Given the description of an element on the screen output the (x, y) to click on. 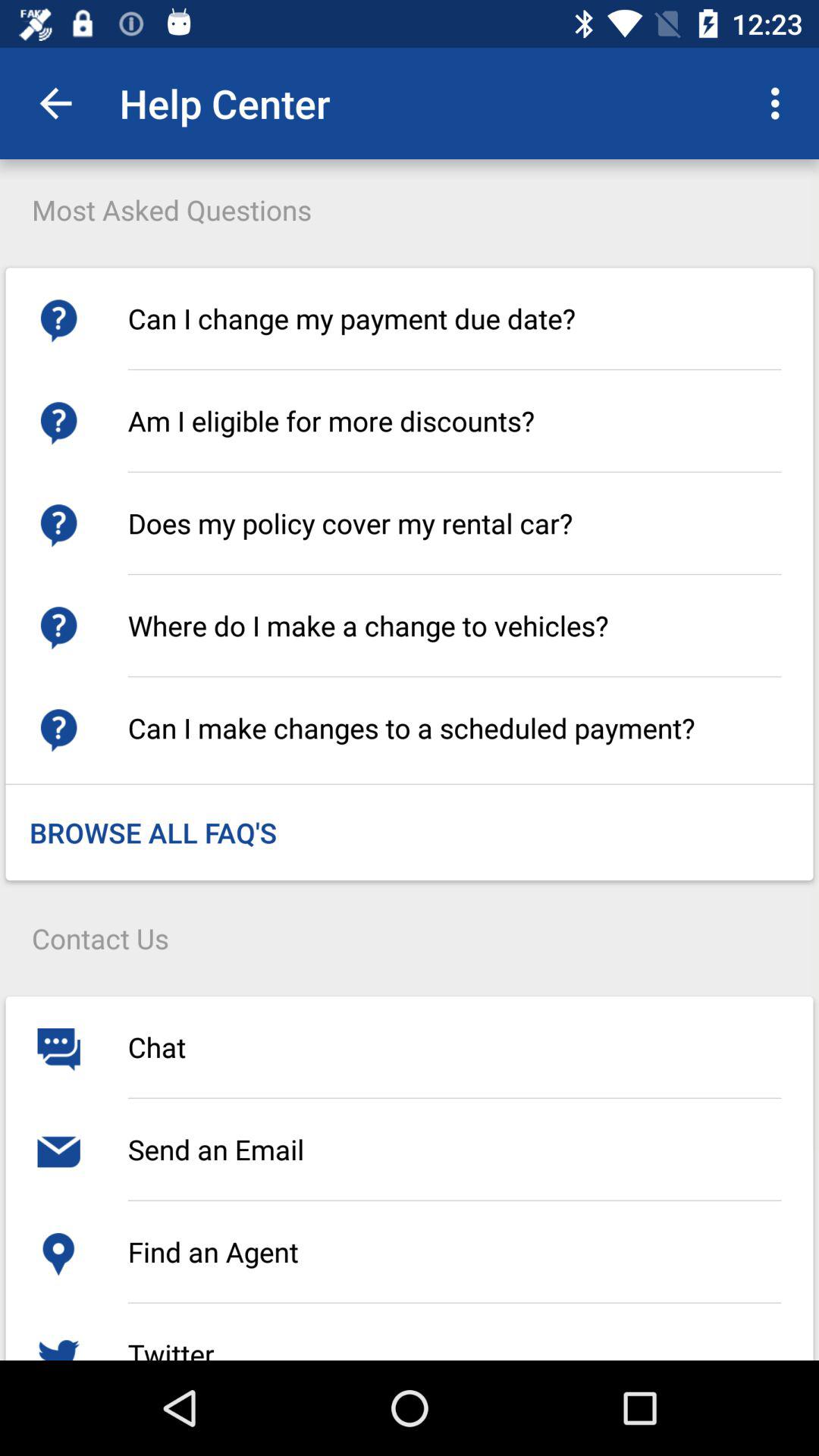
jump to the browse all faq icon (152, 832)
